Given the description of an element on the screen output the (x, y) to click on. 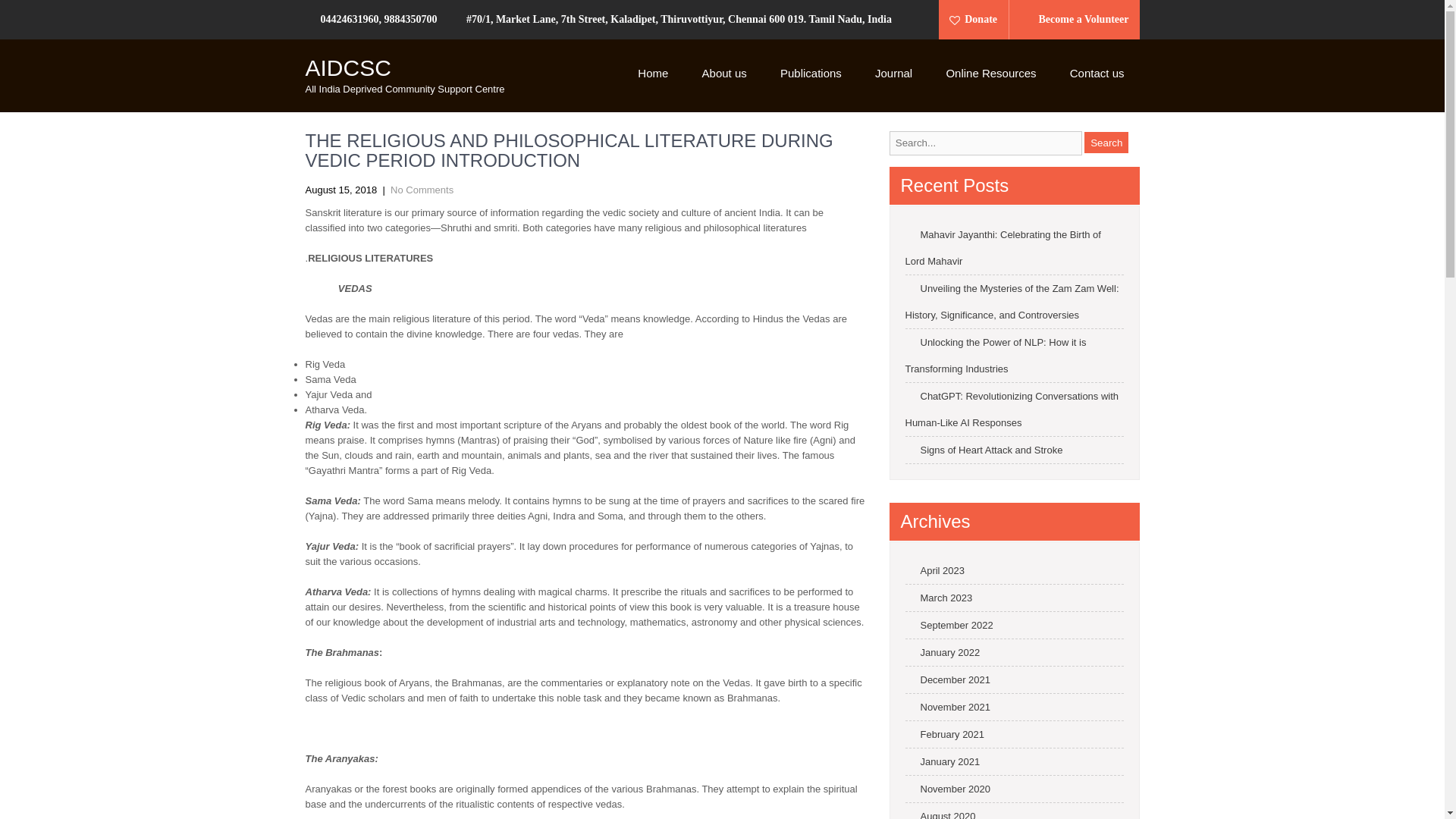
Home (652, 73)
Become a Volunteer (1076, 19)
Publications (811, 73)
Donate (979, 19)
About us (724, 73)
Search (1106, 142)
Contact us (1097, 73)
AIDCSC (347, 67)
Online Resources (990, 73)
No Comments (421, 189)
